Given the description of an element on the screen output the (x, y) to click on. 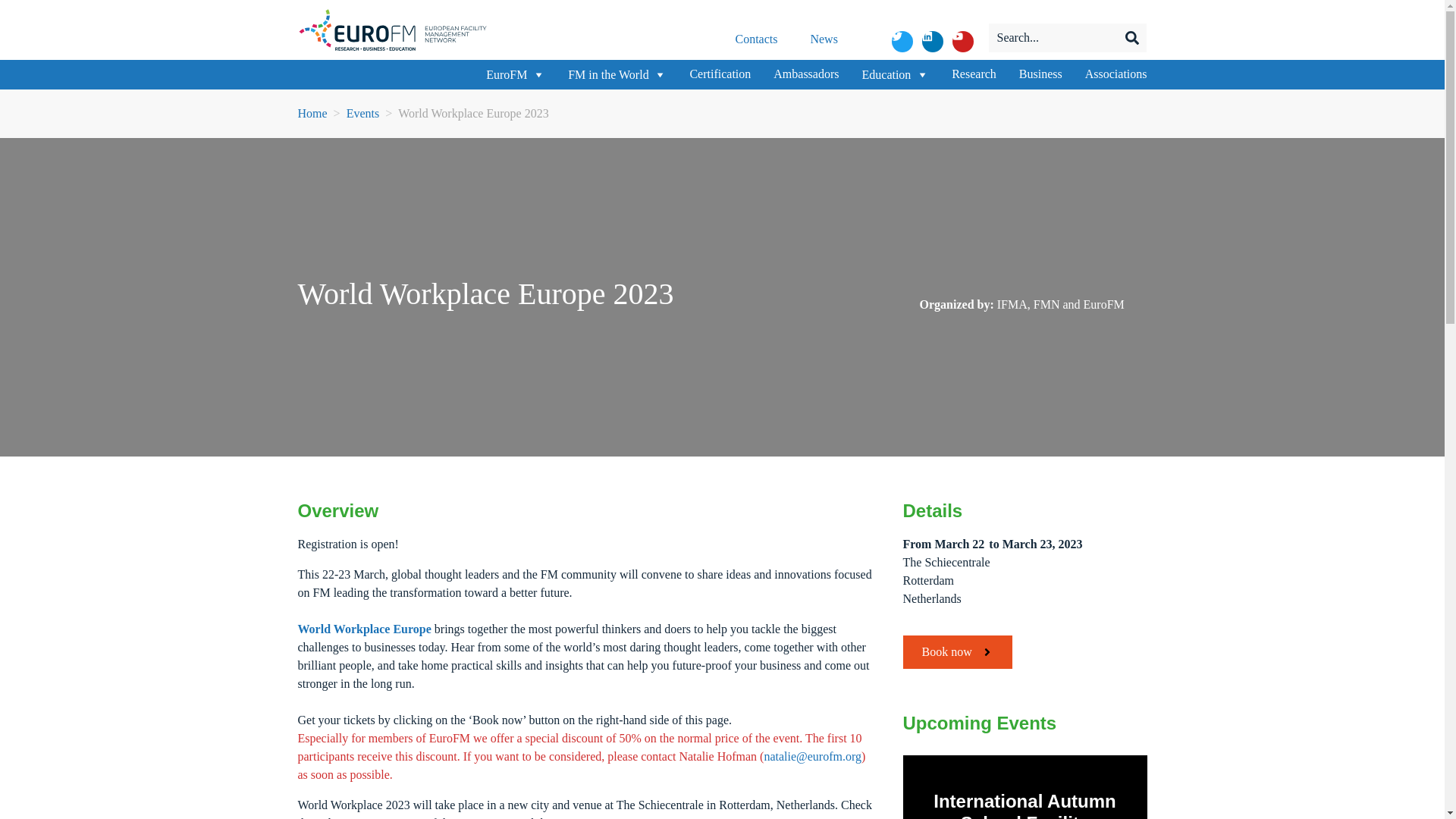
News (823, 39)
EuroFM (515, 74)
Contacts (756, 39)
Associations (1115, 74)
Business (1040, 74)
FM in the World (616, 74)
Certification (719, 74)
Research (973, 74)
Education (894, 74)
Ambassadors (805, 74)
